Given the description of an element on the screen output the (x, y) to click on. 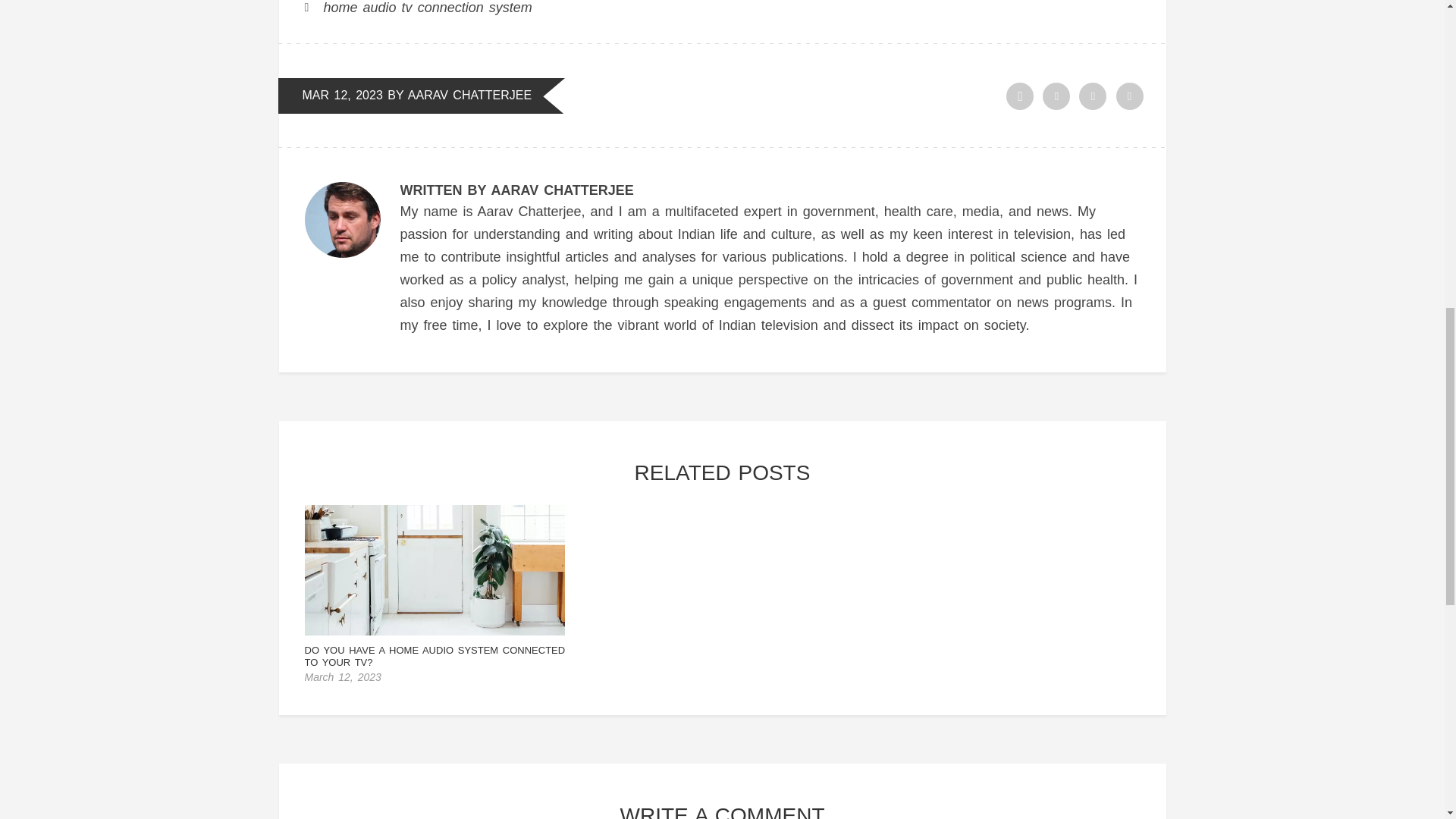
AARAV CHATTERJEE (469, 94)
home audio (359, 7)
system (510, 7)
WRITTEN BY AARAV CHATTERJEE (516, 190)
DO YOU HAVE A HOME AUDIO SYSTEM CONNECTED TO YOUR TV? (435, 656)
connection (450, 7)
